Given the description of an element on the screen output the (x, y) to click on. 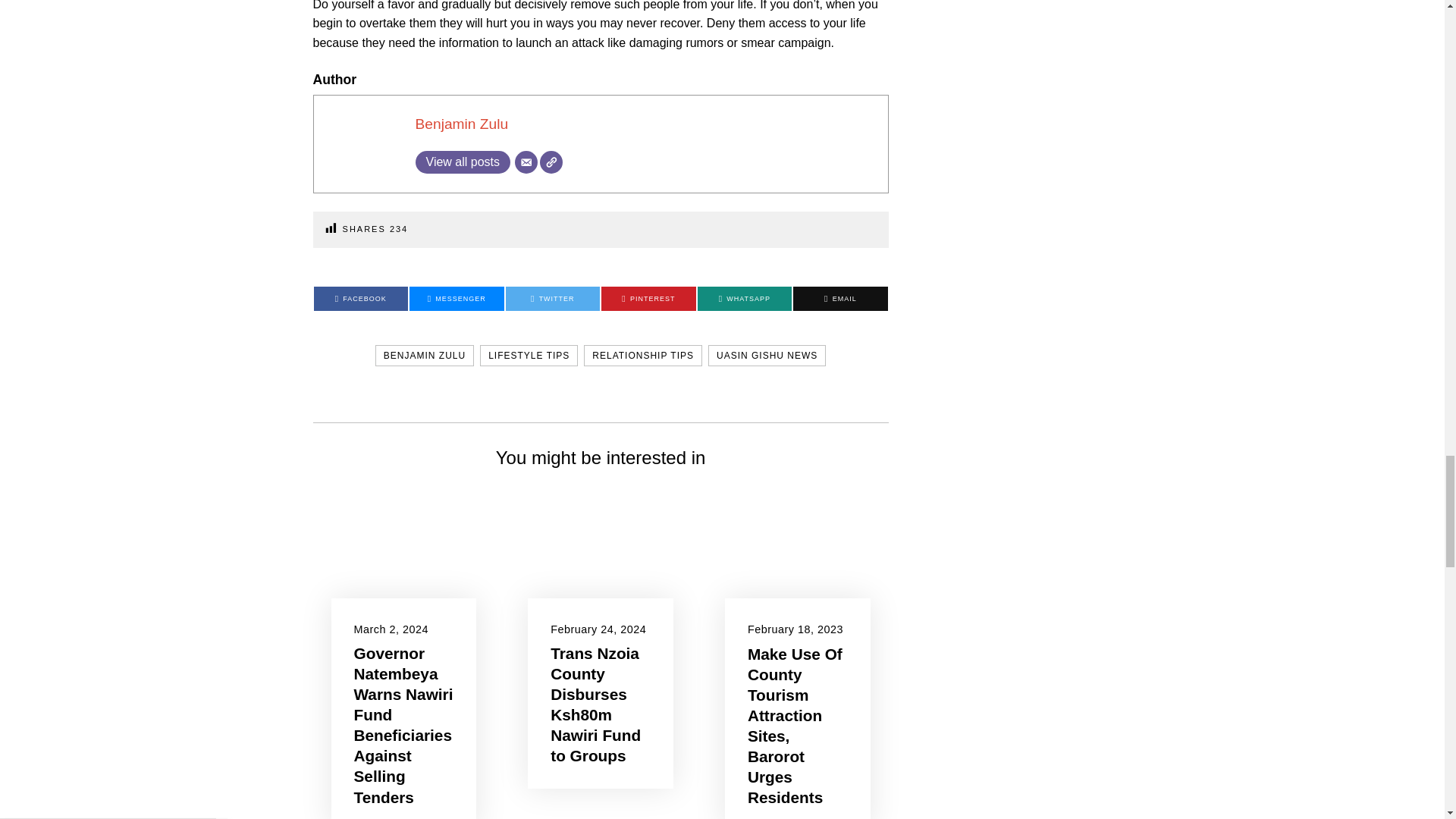
UASIN GISHU NEWS (766, 355)
View all posts (462, 161)
Benjamin Zulu (461, 123)
TWITTER (552, 298)
LIFESTYLE TIPS (529, 355)
Benjamin Zulu (461, 123)
RELATIONSHIP TIPS (642, 355)
BENJAMIN ZULU (424, 355)
PINTEREST (648, 298)
EMAIL (840, 298)
